Given the description of an element on the screen output the (x, y) to click on. 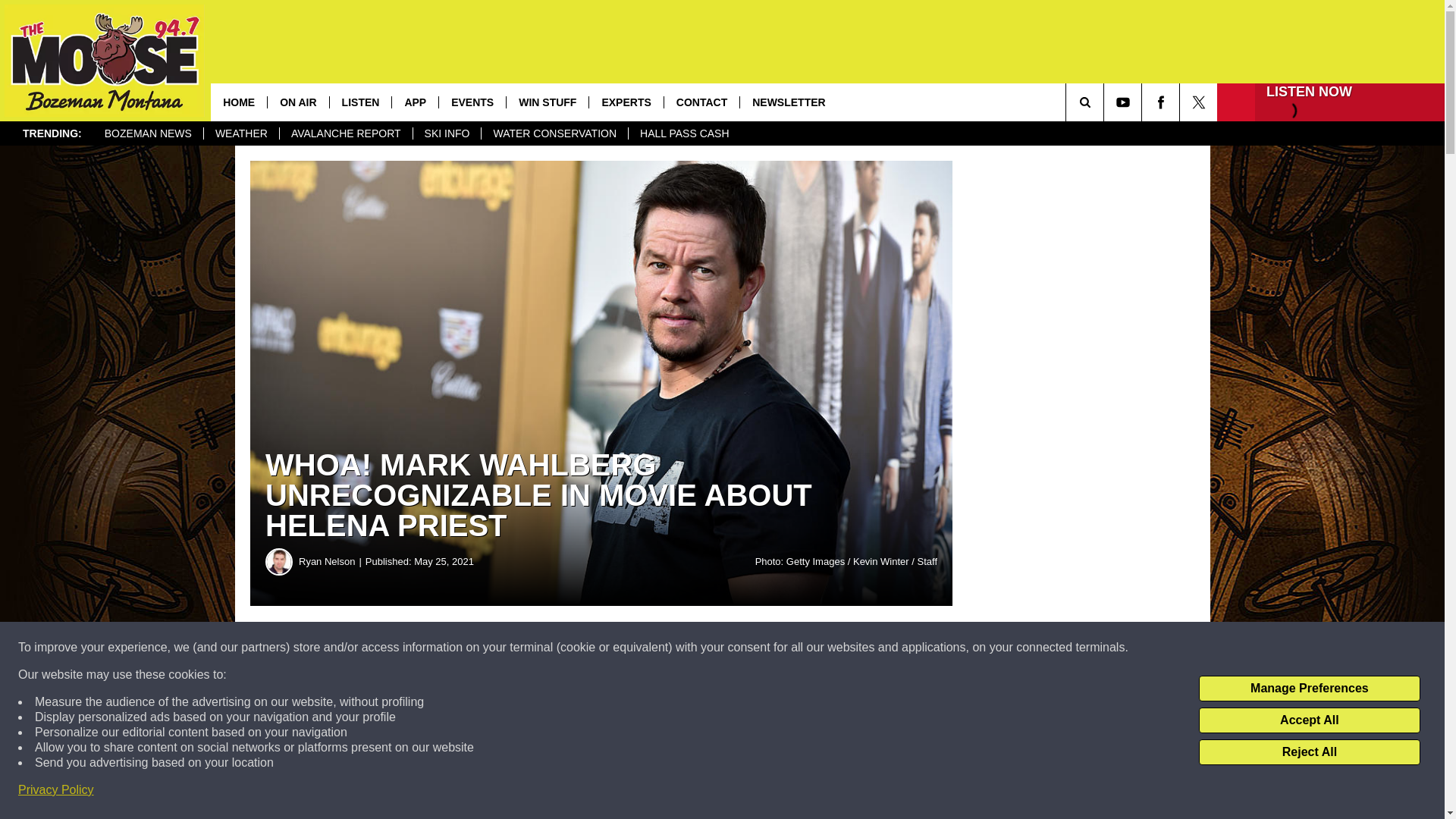
EVENTS (471, 102)
SEARCH (1106, 102)
Share on Twitter (741, 647)
AVALANCHE REPORT (345, 133)
TRENDING: (52, 133)
SEARCH (1106, 102)
Privacy Policy (55, 789)
WATER CONSERVATION (553, 133)
Accept All (1309, 720)
HOME (238, 102)
